Given the description of an element on the screen output the (x, y) to click on. 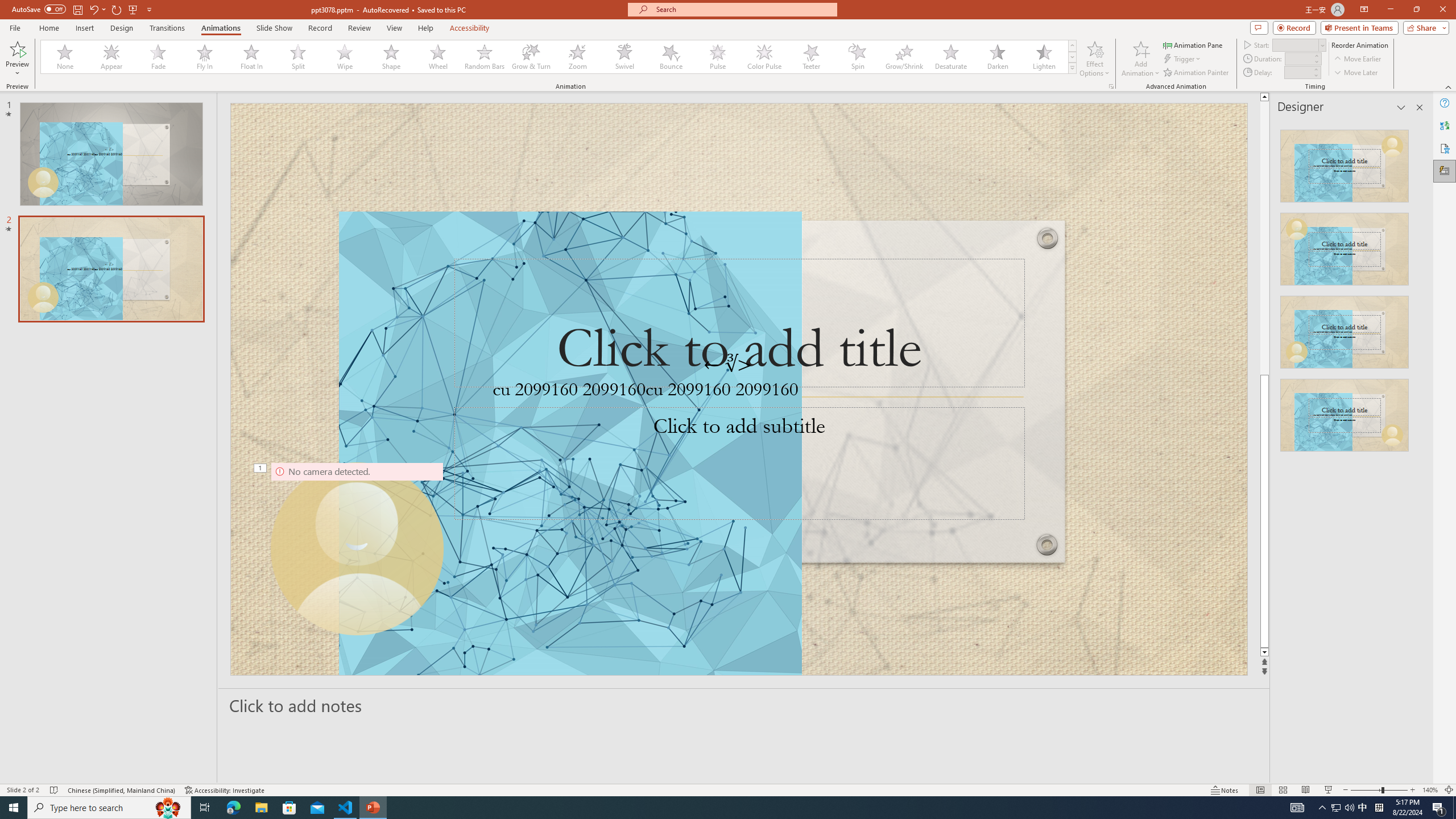
TextBox 7 (727, 364)
Grow & Turn (531, 56)
